Given the description of an element on the screen output the (x, y) to click on. 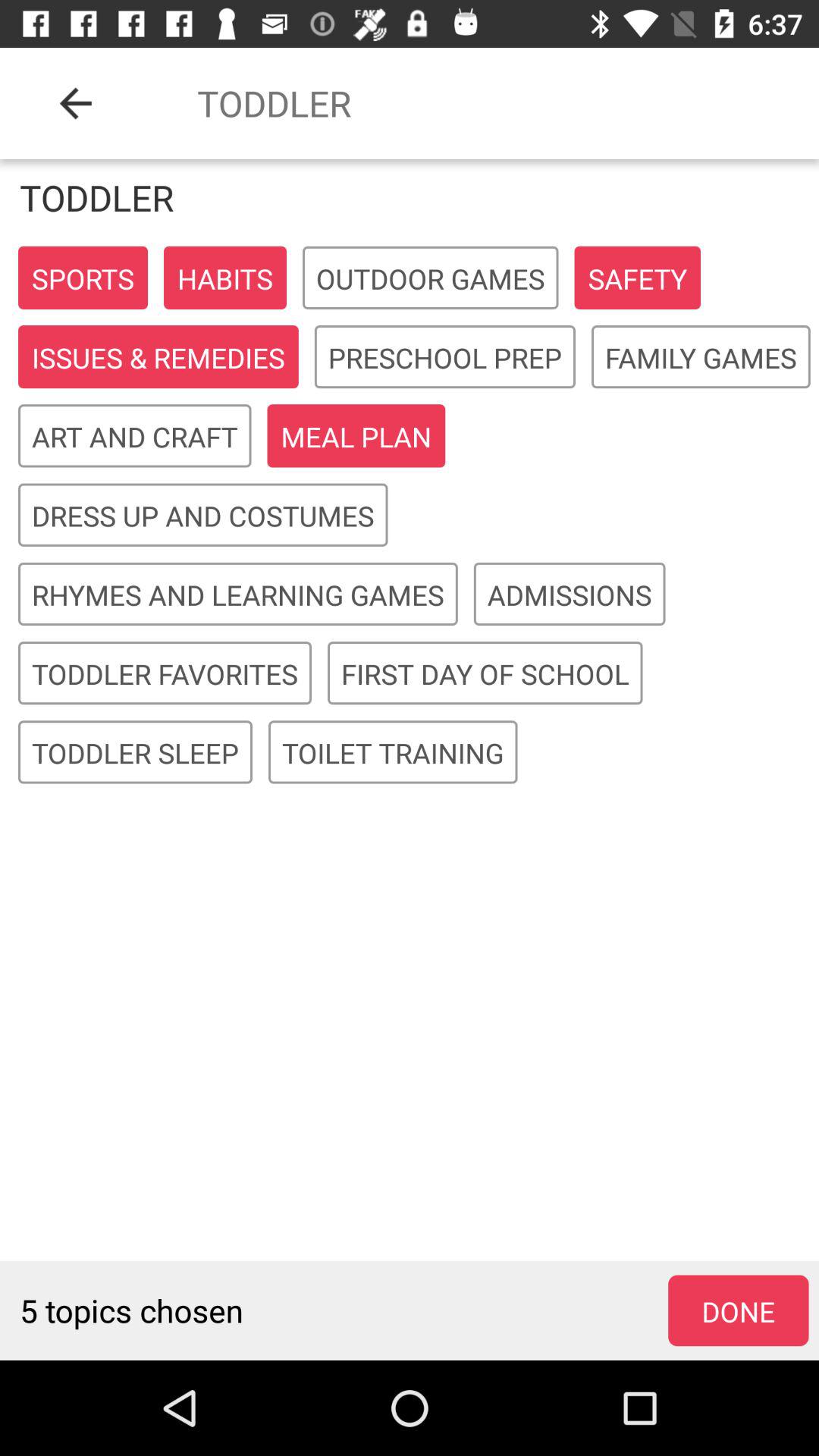
tap item above art and craft (157, 357)
